Given the description of an element on the screen output the (x, y) to click on. 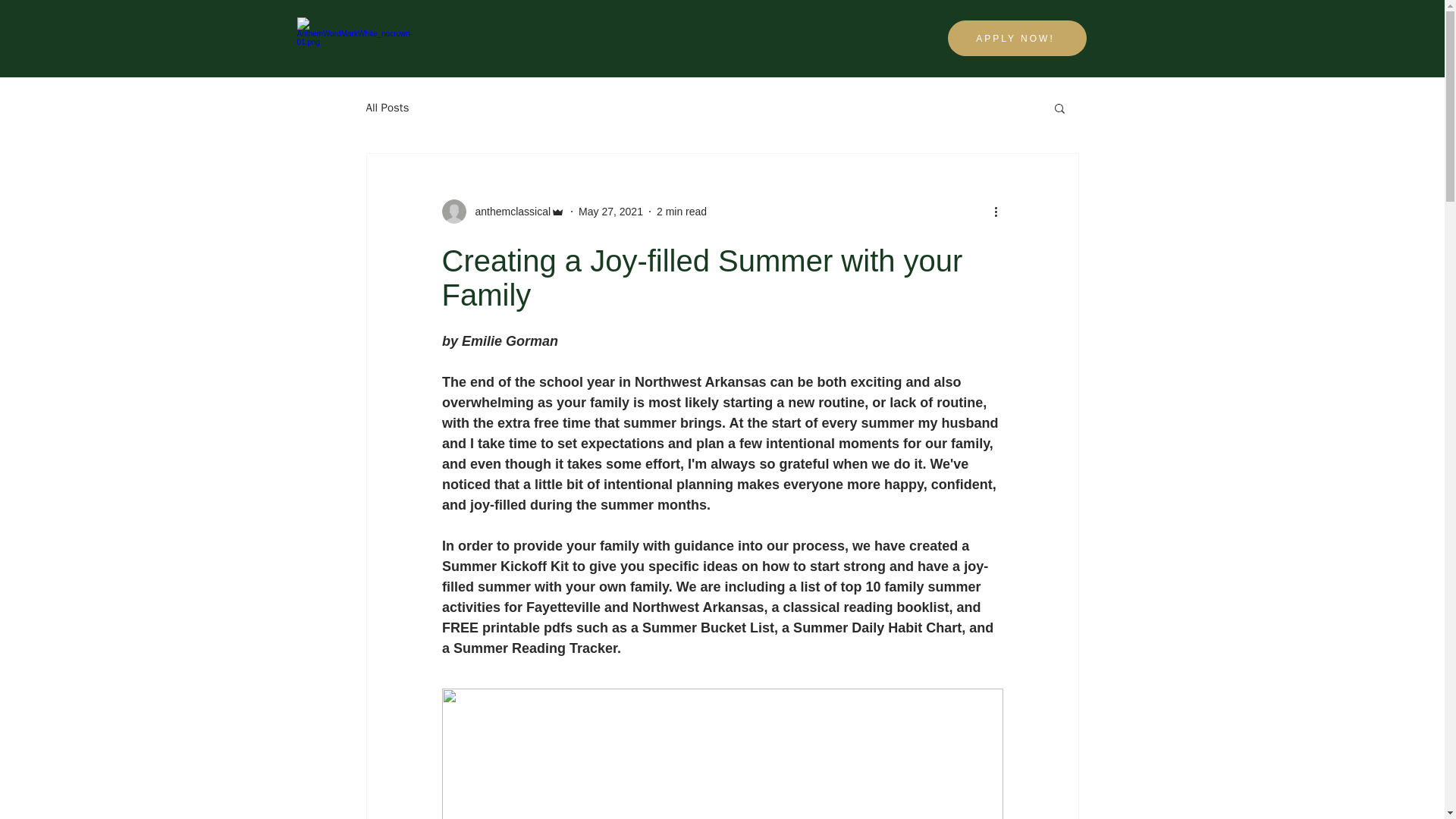
All Posts (387, 106)
anthemclassical (507, 211)
May 27, 2021 (610, 210)
2 min read (681, 210)
APPLY NOW! (1016, 38)
anthemclassical (502, 211)
